Given the description of an element on the screen output the (x, y) to click on. 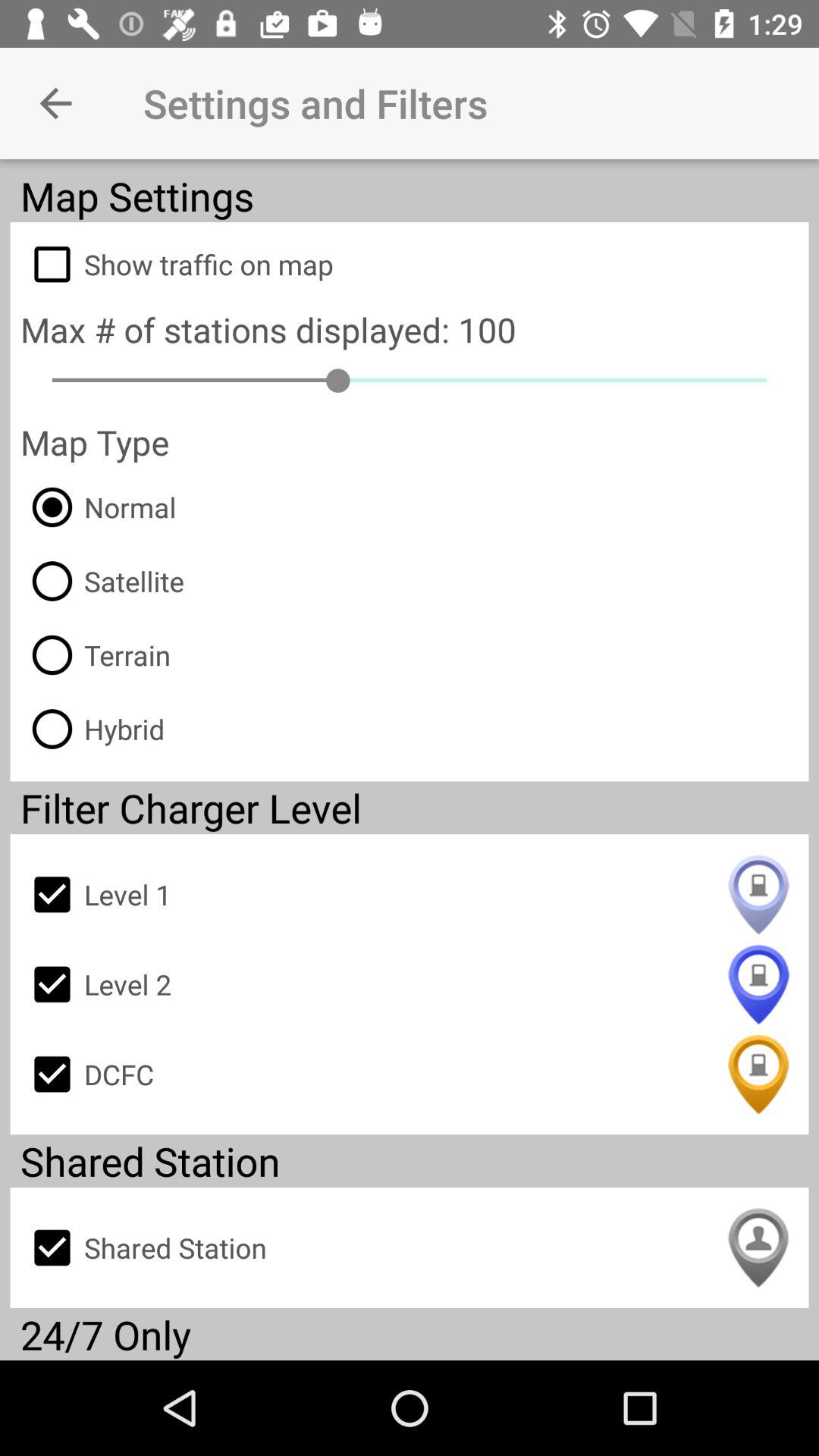
press icon above max of stations (409, 264)
